Given the description of an element on the screen output the (x, y) to click on. 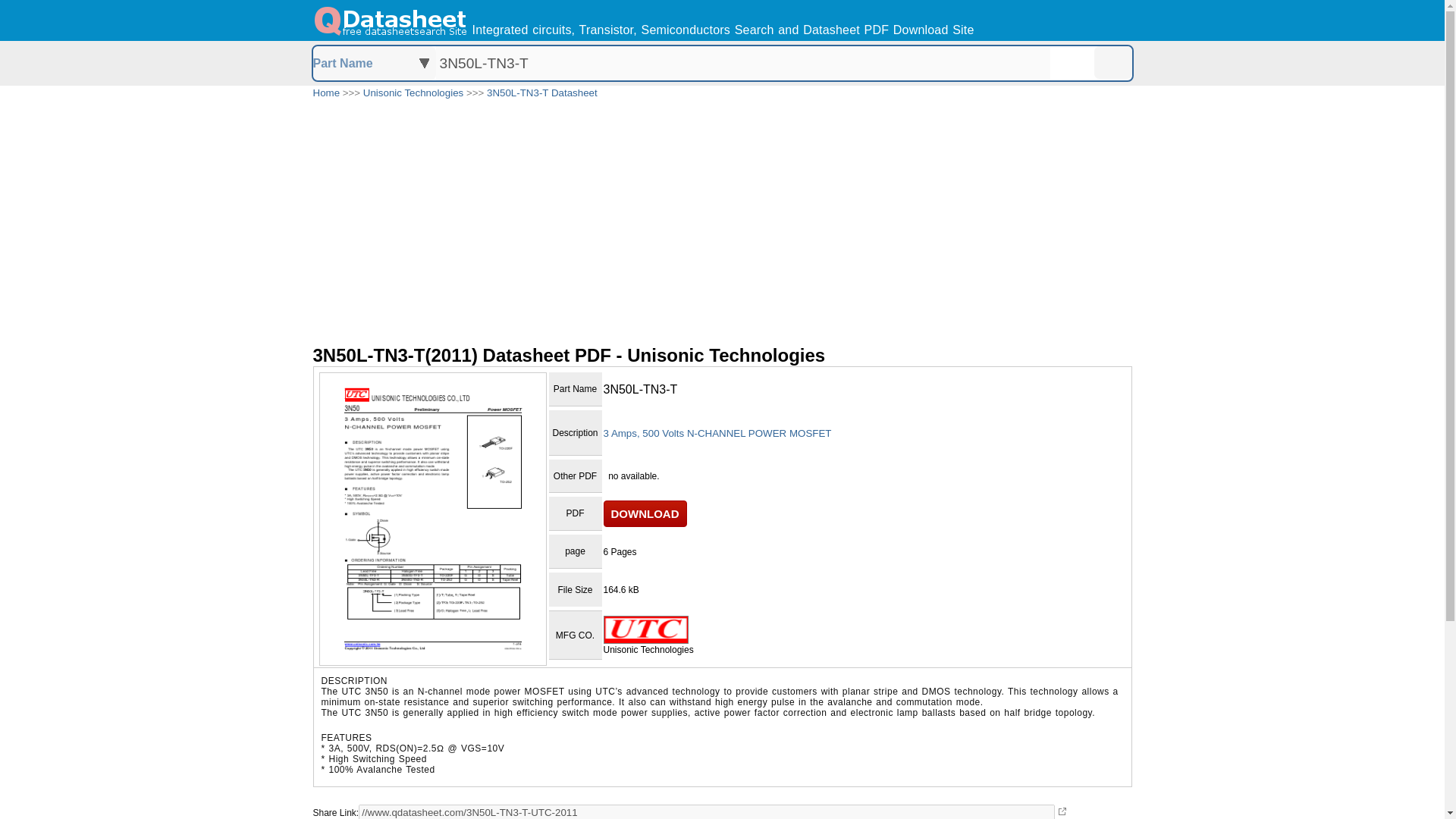
3 Amps, 500 Volts N-CHANNEL POWER MOSFET (717, 432)
Unisonic Technologies (412, 92)
Find Parts (1112, 61)
Home (326, 92)
3N50L-TN3-T (742, 62)
3N50L-TN3-T (742, 62)
DOWNLOAD (645, 513)
3N50L-TN3-T Datasheet (541, 92)
